Given the description of an element on the screen output the (x, y) to click on. 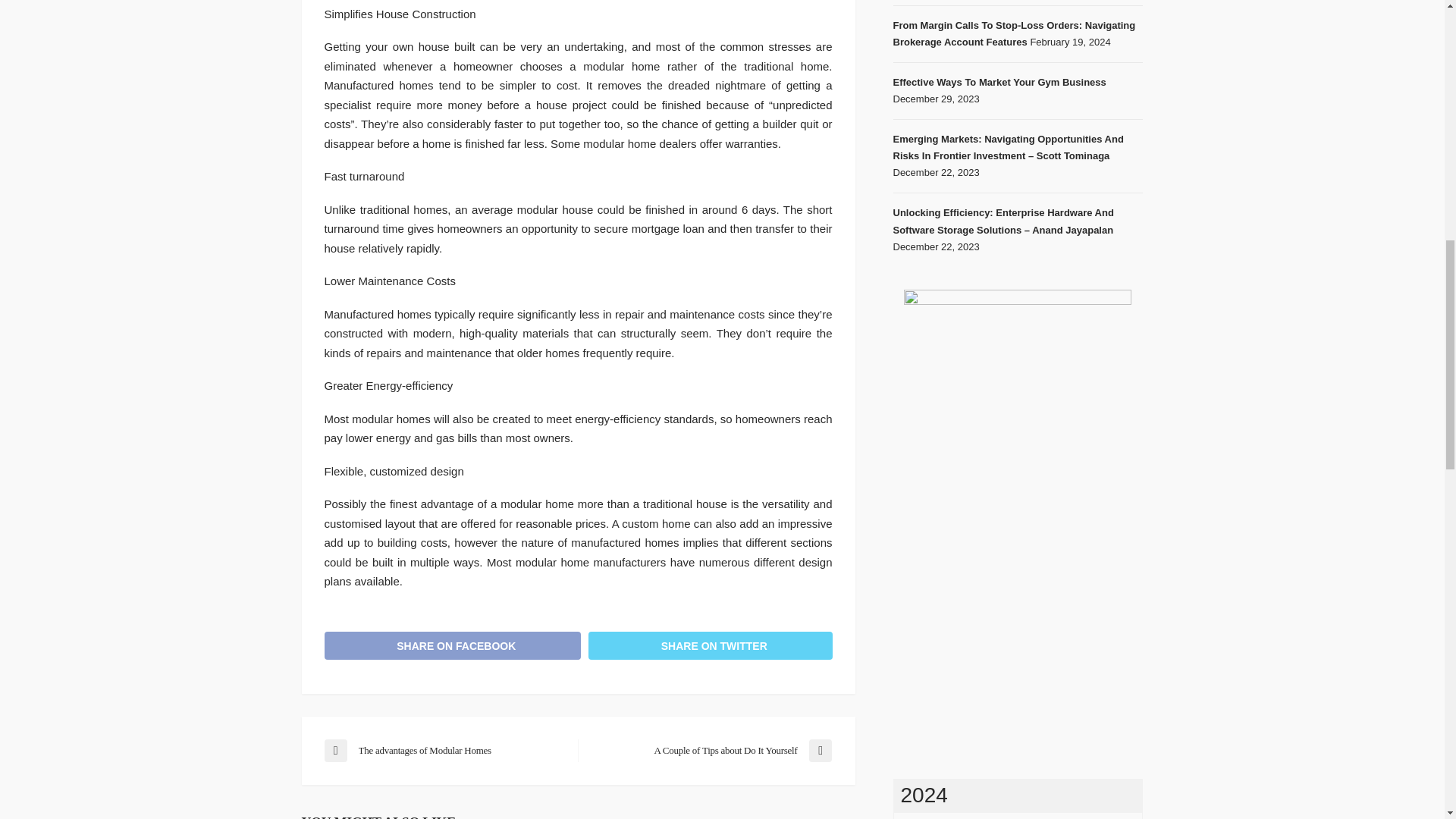
A Couple of Tips about Do It Yourself (711, 750)
The advantages of Modular Homes (443, 750)
